Given the description of an element on the screen output the (x, y) to click on. 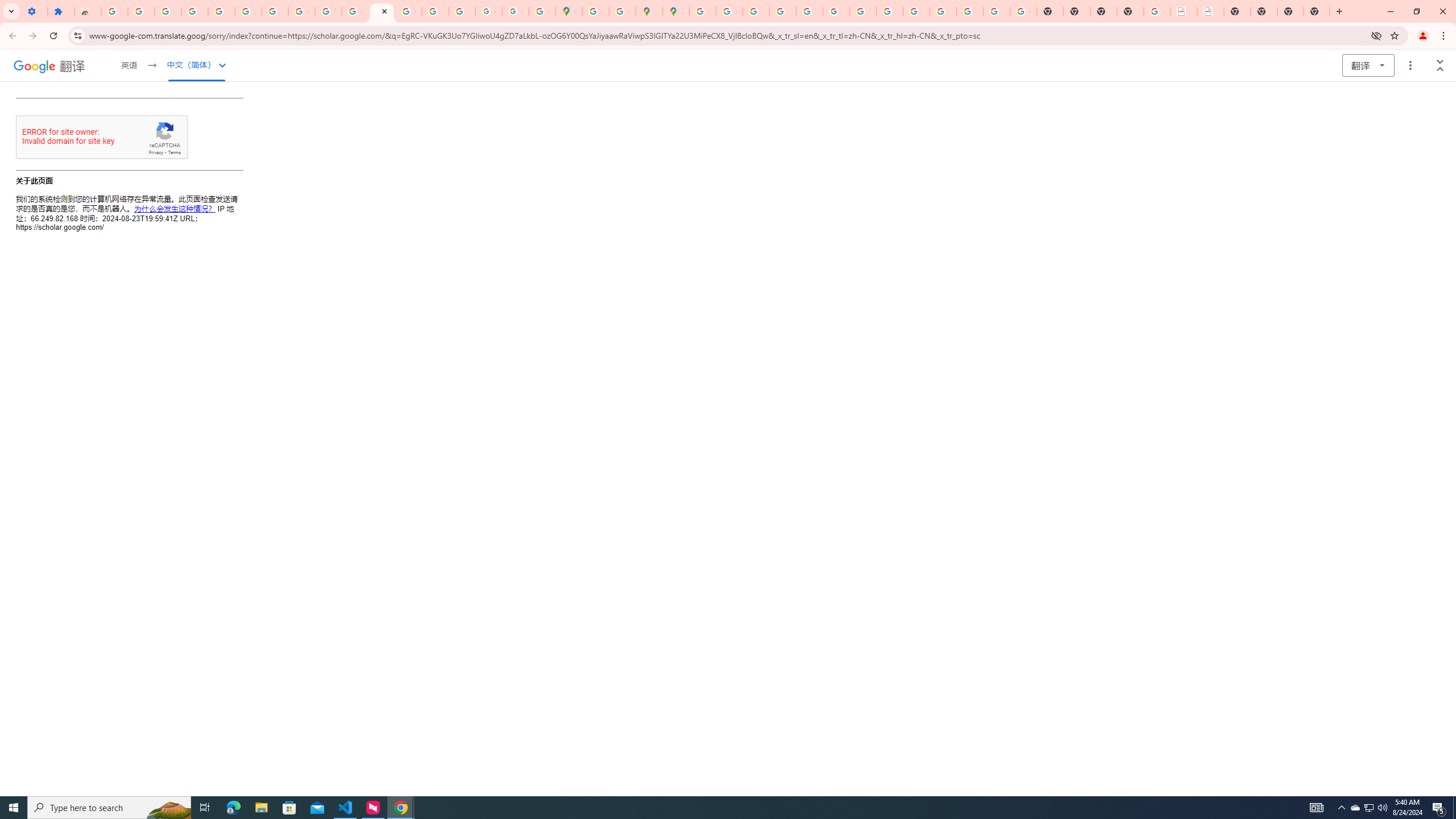
BAE Systems Brasil | BAE Systems (1210, 11)
Safety in Our Products - Google Safety Center (622, 11)
Delete photos & videos - Computer - Google Photos Help (167, 11)
New Tab (1130, 11)
YouTube (328, 11)
Learn how to find your photos - Google Photos Help (194, 11)
Google Account (301, 11)
